Given the description of an element on the screen output the (x, y) to click on. 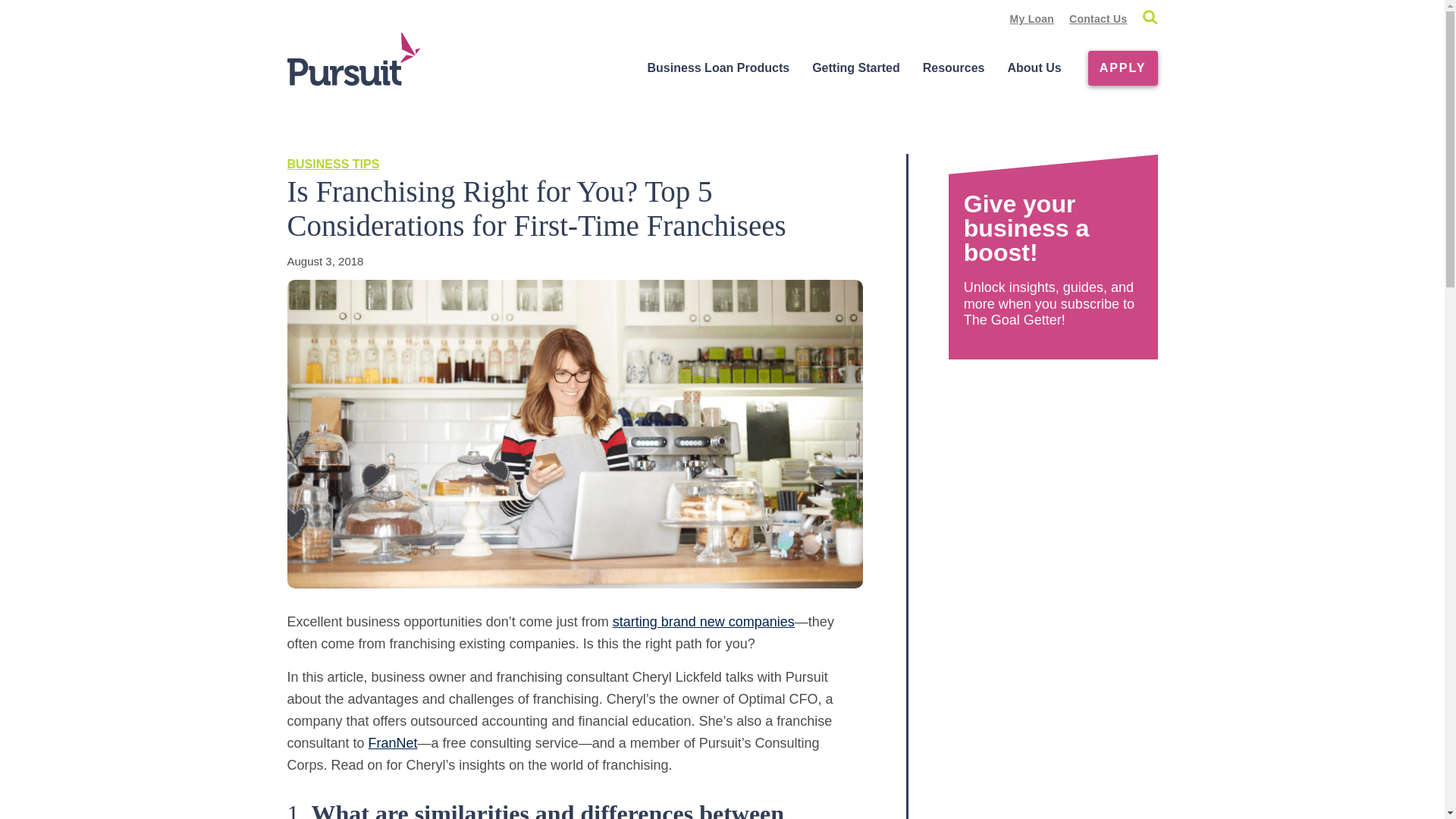
About Us (1034, 67)
Resources (953, 67)
Contact Us (1097, 19)
Business Loan Products (719, 67)
Getting Started (855, 67)
APPLY (1122, 67)
My Loan (1032, 19)
